Given the description of an element on the screen output the (x, y) to click on. 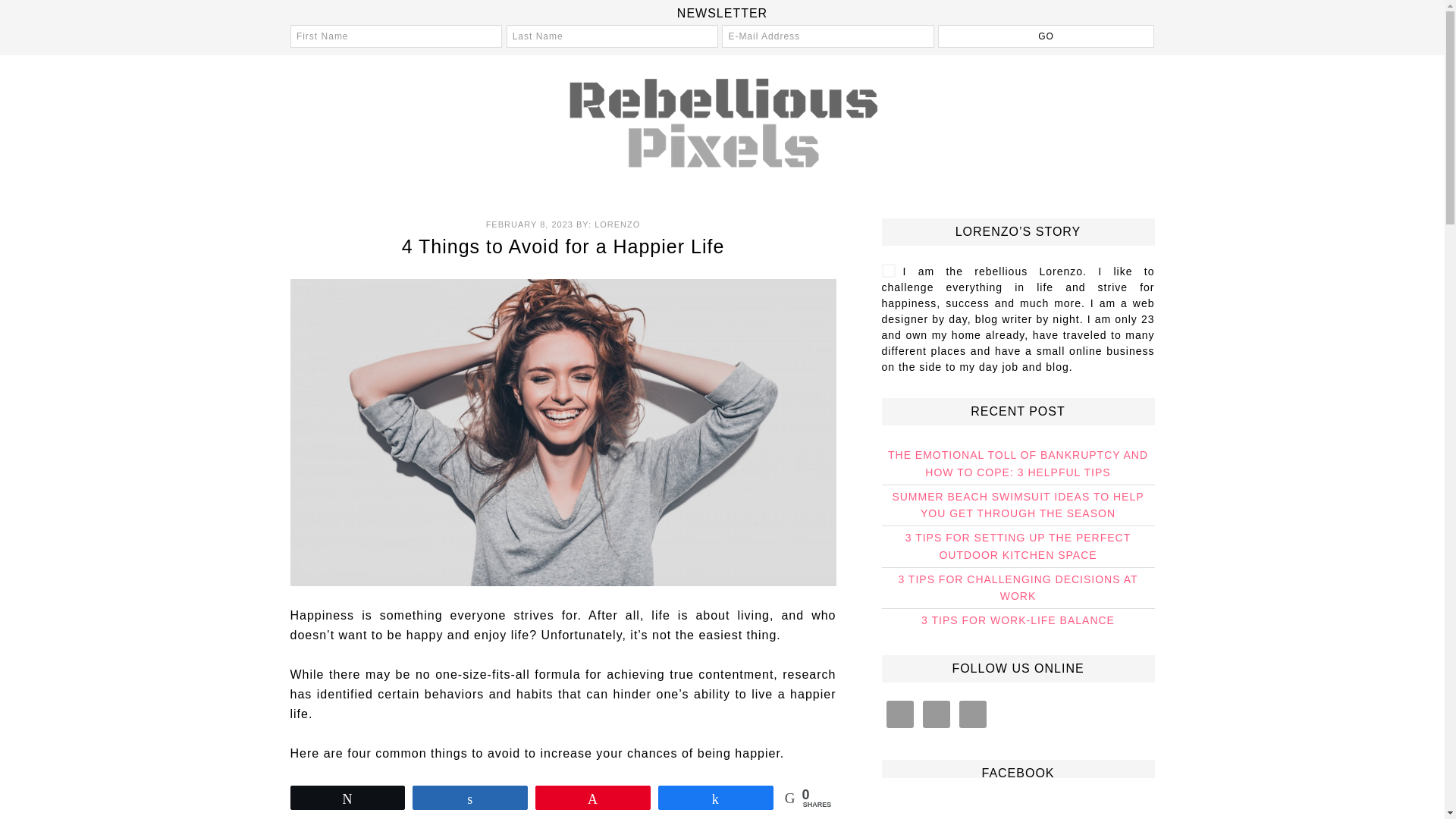
MY BLOG (722, 121)
Go (1045, 36)
3 TIPS FOR WORK-LIFE BALANCE (1018, 620)
3 TIPS FOR CHALLENGING DECISIONS AT WORK (1017, 587)
3 TIPS FOR SETTING UP THE PERFECT OUTDOOR KITCHEN SPACE (1018, 546)
Go (1045, 36)
